Given the description of an element on the screen output the (x, y) to click on. 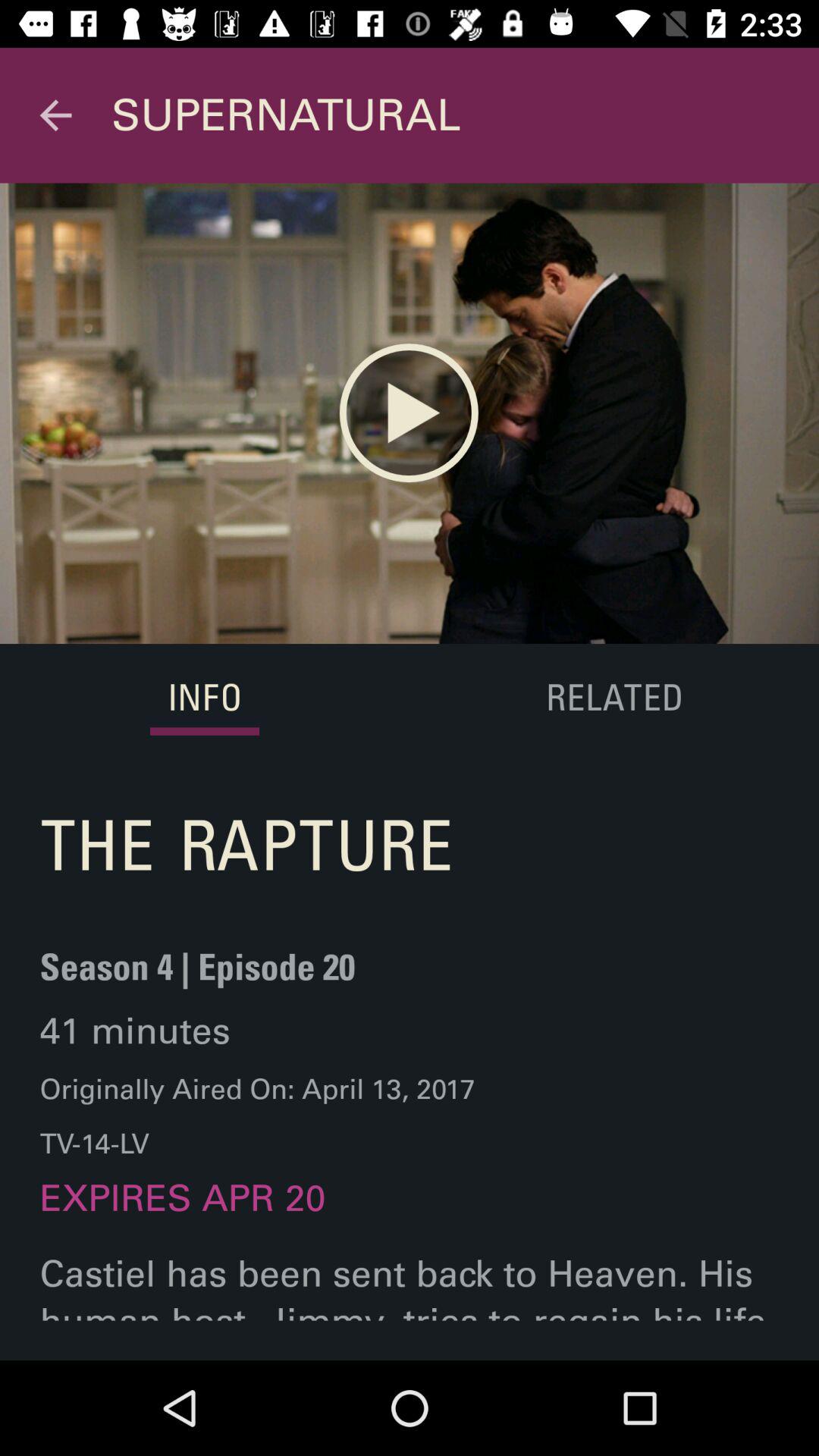
choose the icon above expires apr 20 item (257, 1116)
